Given the description of an element on the screen output the (x, y) to click on. 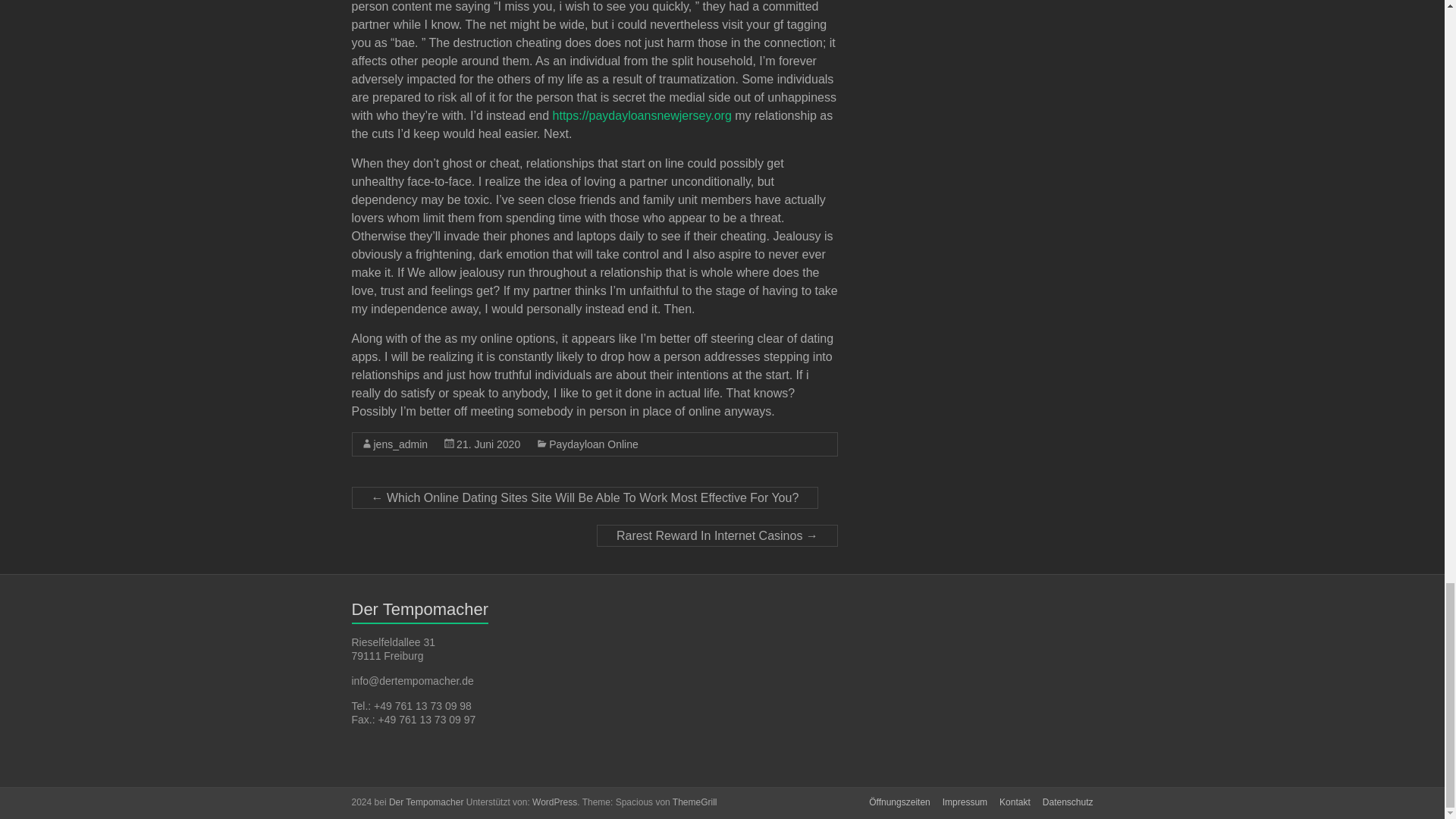
WordPress (554, 801)
21:57 (488, 444)
ThemeGrill (694, 801)
Paydayloan Online (593, 444)
21. Juni 2020 (488, 444)
Der Tempomacher (425, 801)
